Given the description of an element on the screen output the (x, y) to click on. 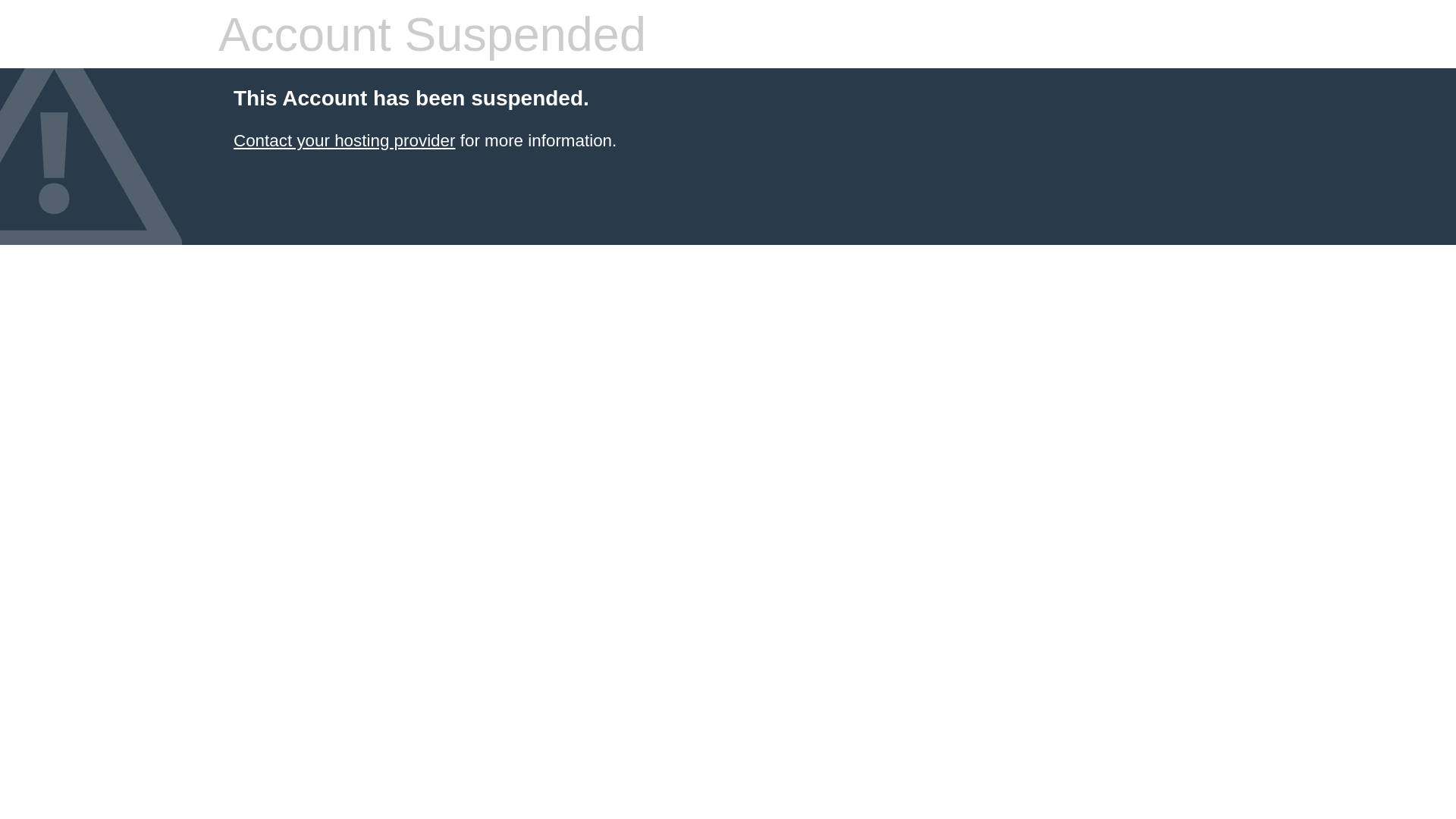
Contact your hosting provider Element type: text (344, 140)
